Given the description of an element on the screen output the (x, y) to click on. 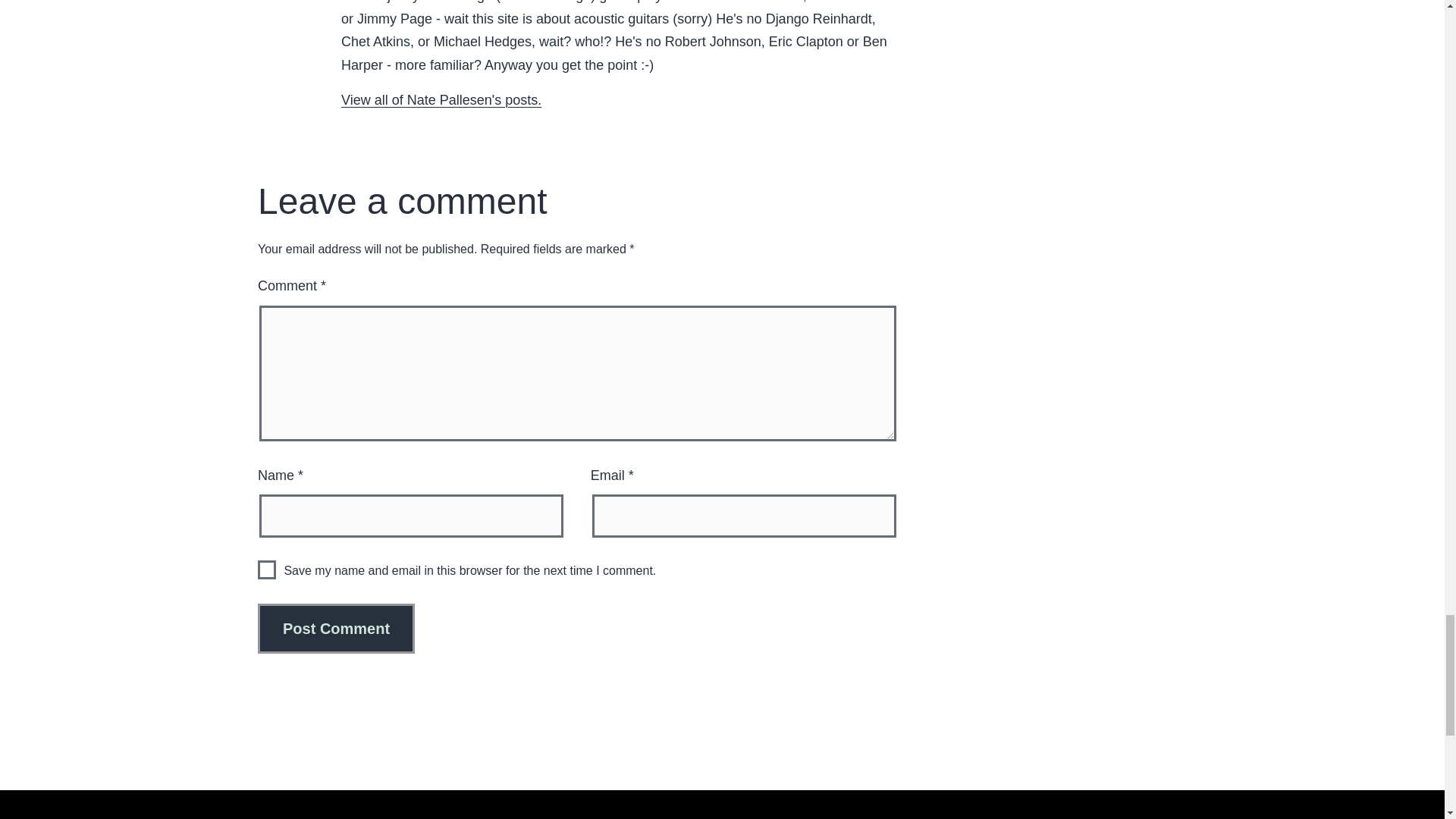
Post Comment (335, 628)
yes (266, 569)
